Given the description of an element on the screen output the (x, y) to click on. 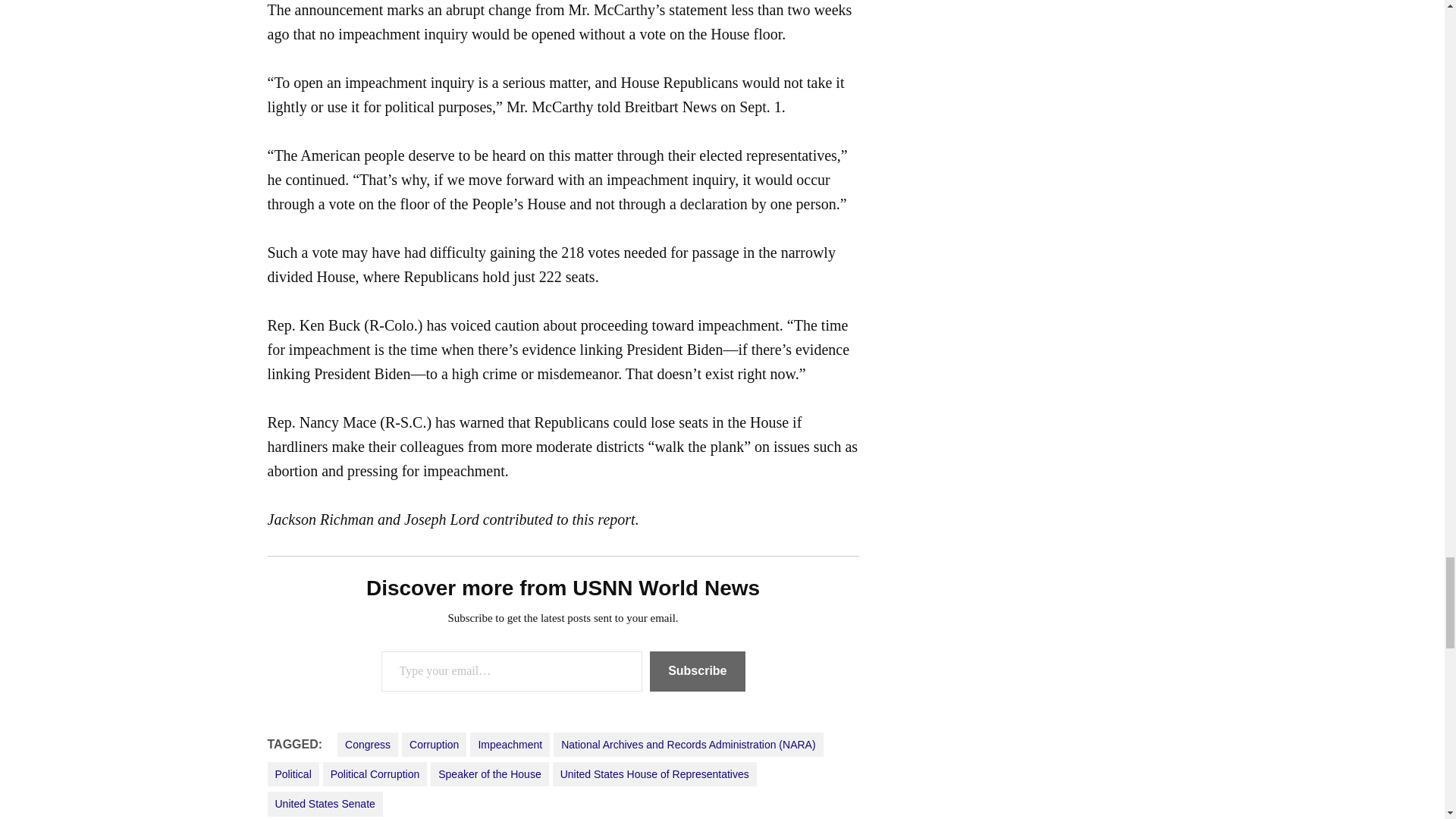
Please fill in this field. (511, 671)
